Given the description of an element on the screen output the (x, y) to click on. 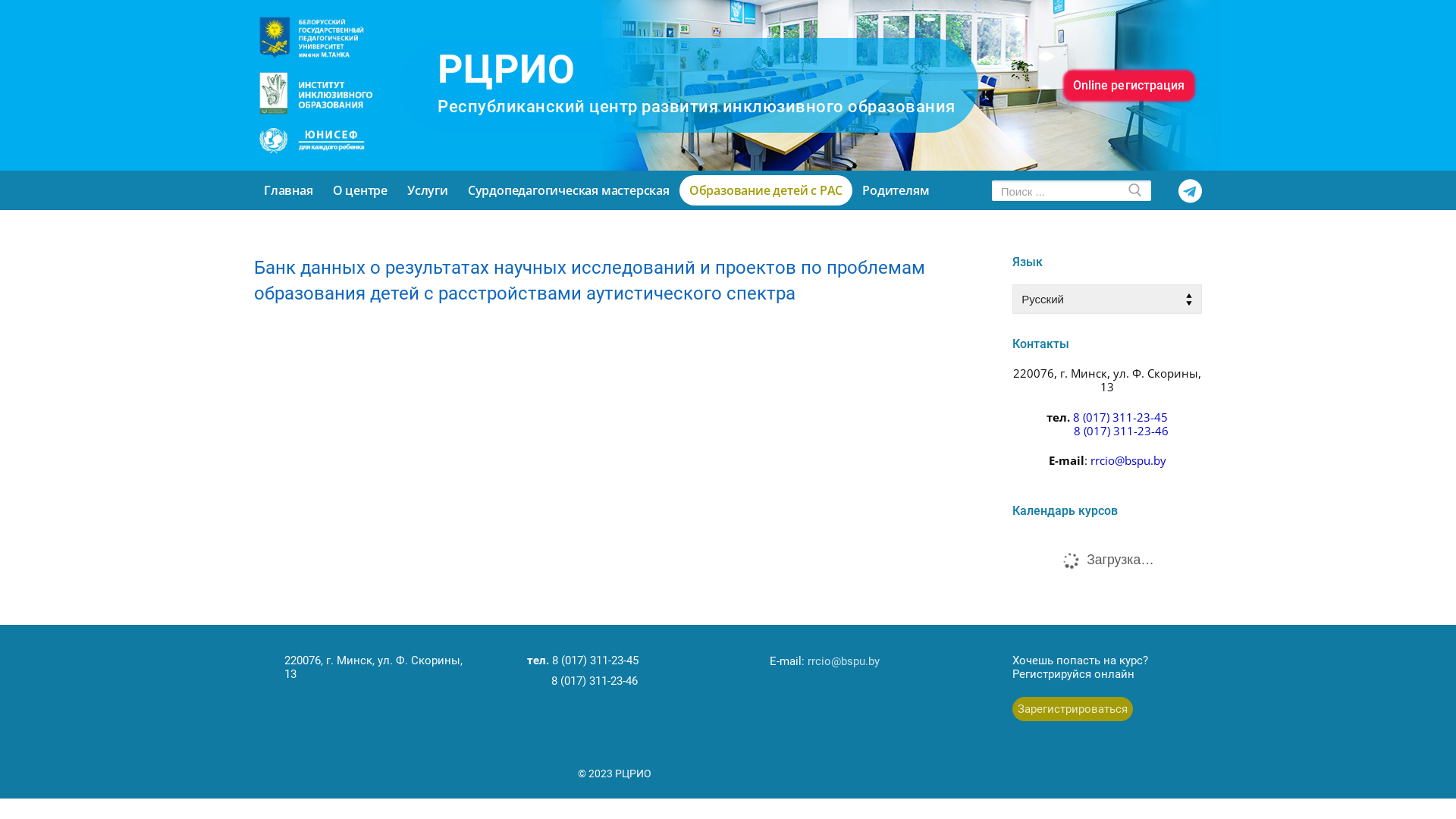
Telegram Element type: hover (1189, 190)
rrcio@bspu.by Element type: text (843, 661)
